Given the description of an element on the screen output the (x, y) to click on. 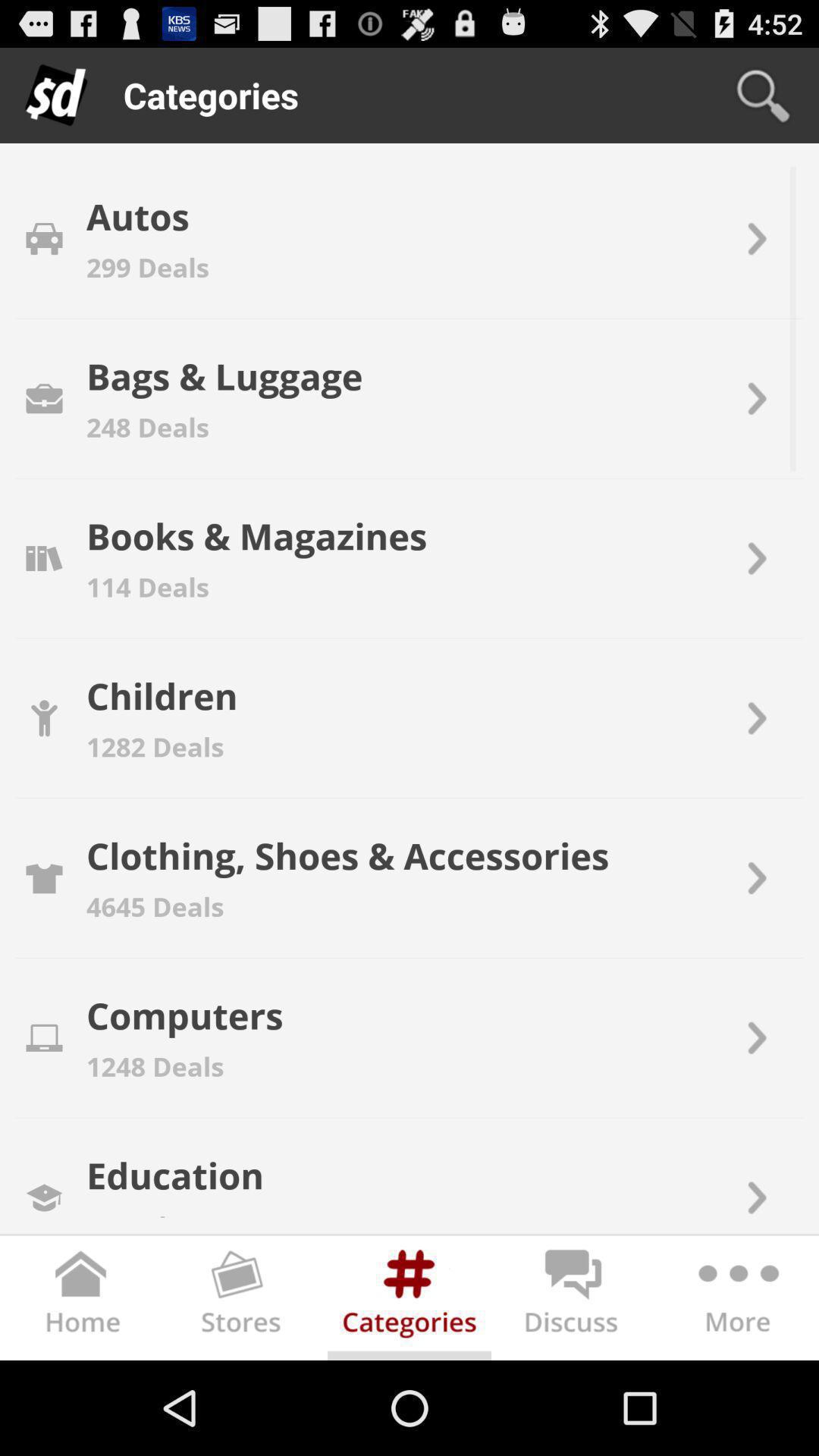
to choose categories option (409, 1301)
